Given the description of an element on the screen output the (x, y) to click on. 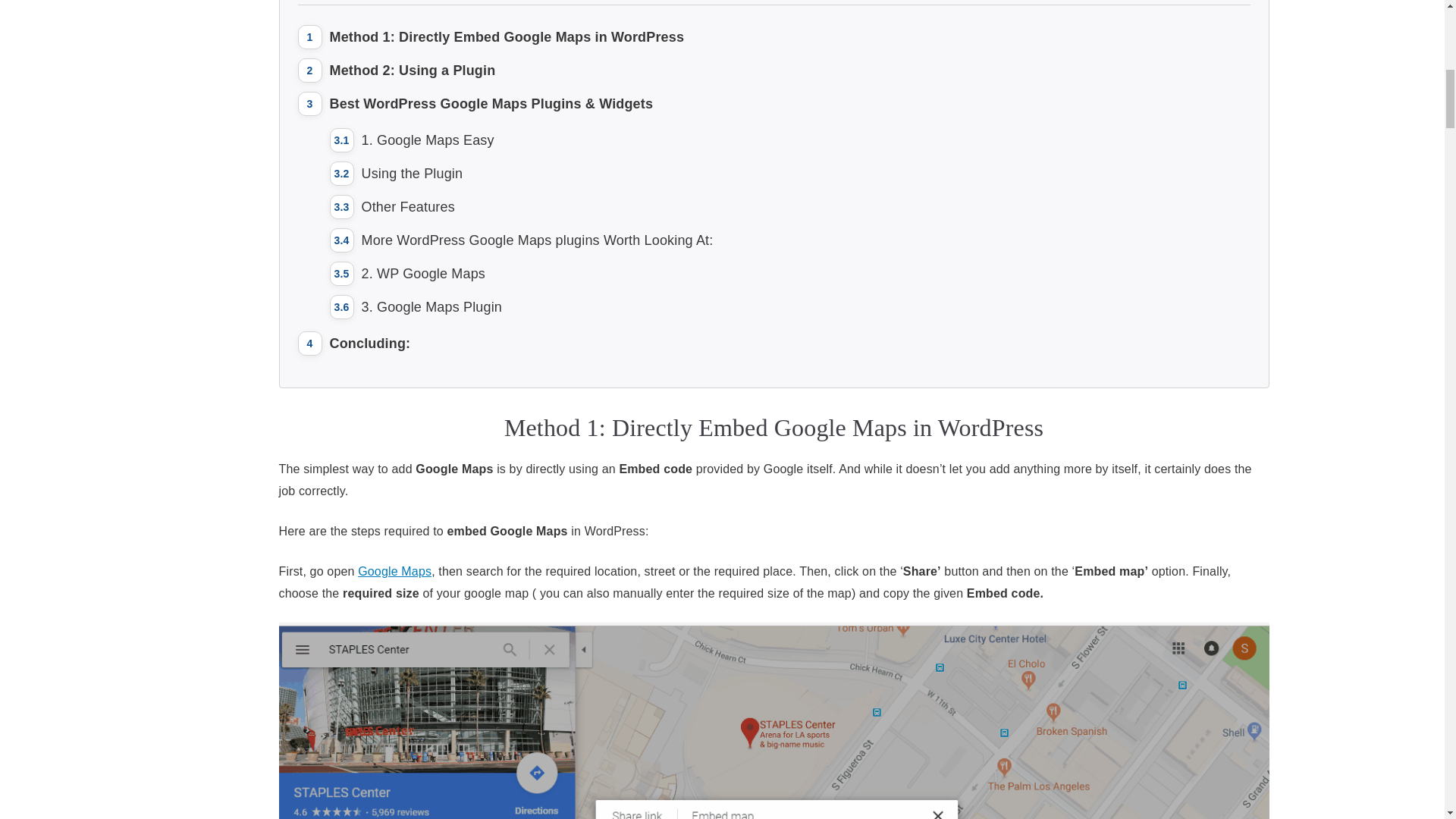
3. Google Maps Plugin (430, 306)
More WordPress Google Maps plugins Worth Looking At: (537, 240)
Method 2: Using a Plugin (412, 70)
Method 1: Directly Embed Google Maps in WordPress (506, 37)
Using the Plugin (412, 173)
3. Google Maps Plugin (430, 306)
1. Google Maps Easy (427, 140)
Using the Plugin (412, 173)
Concluding: (369, 343)
Method 1: Directly Embed Google Maps in WordPress (506, 37)
